Given the description of an element on the screen output the (x, y) to click on. 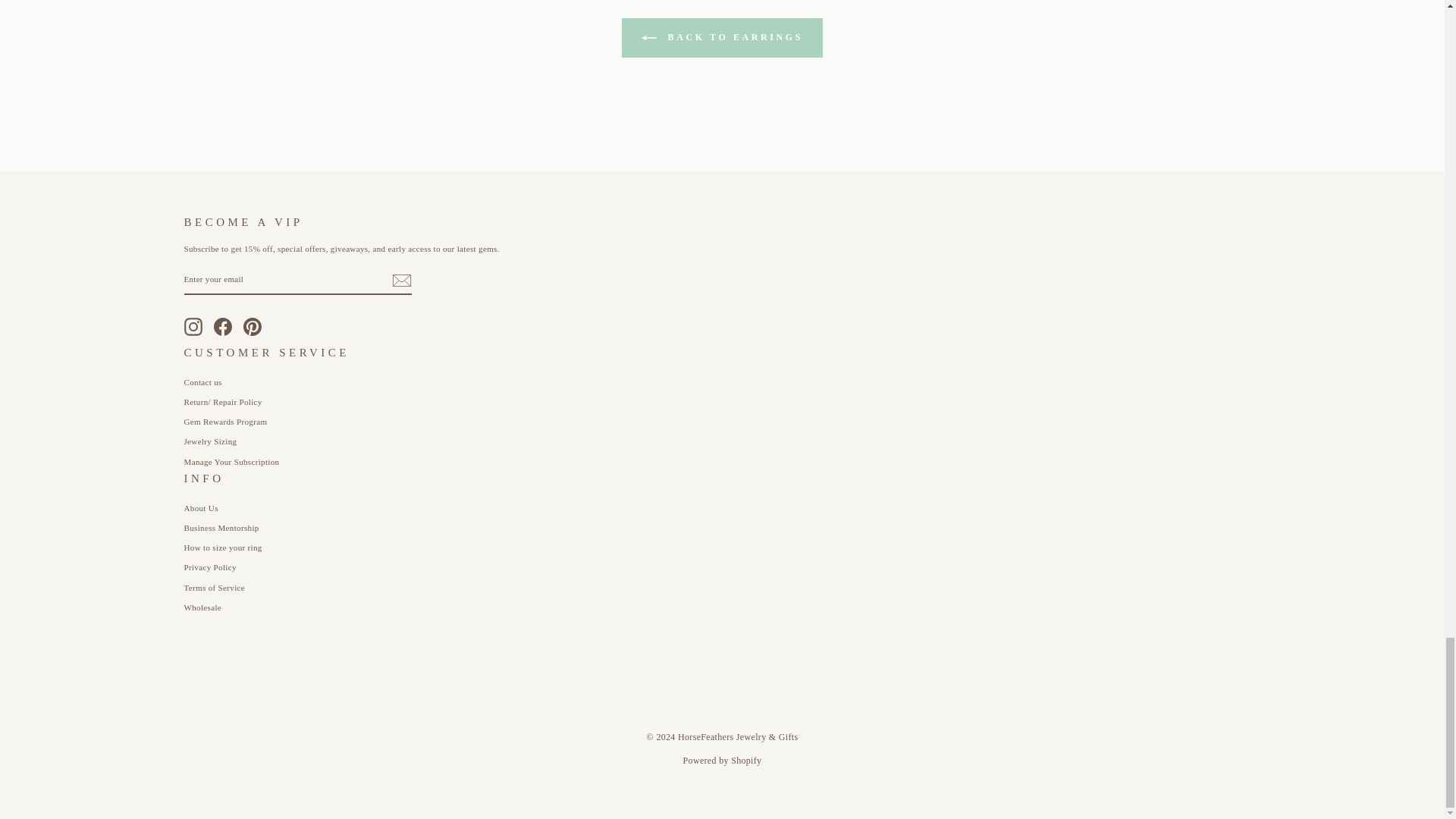
icon-email (400, 280)
instagram (192, 326)
ICON-LEFT-ARROW (649, 37)
